Given the description of an element on the screen output the (x, y) to click on. 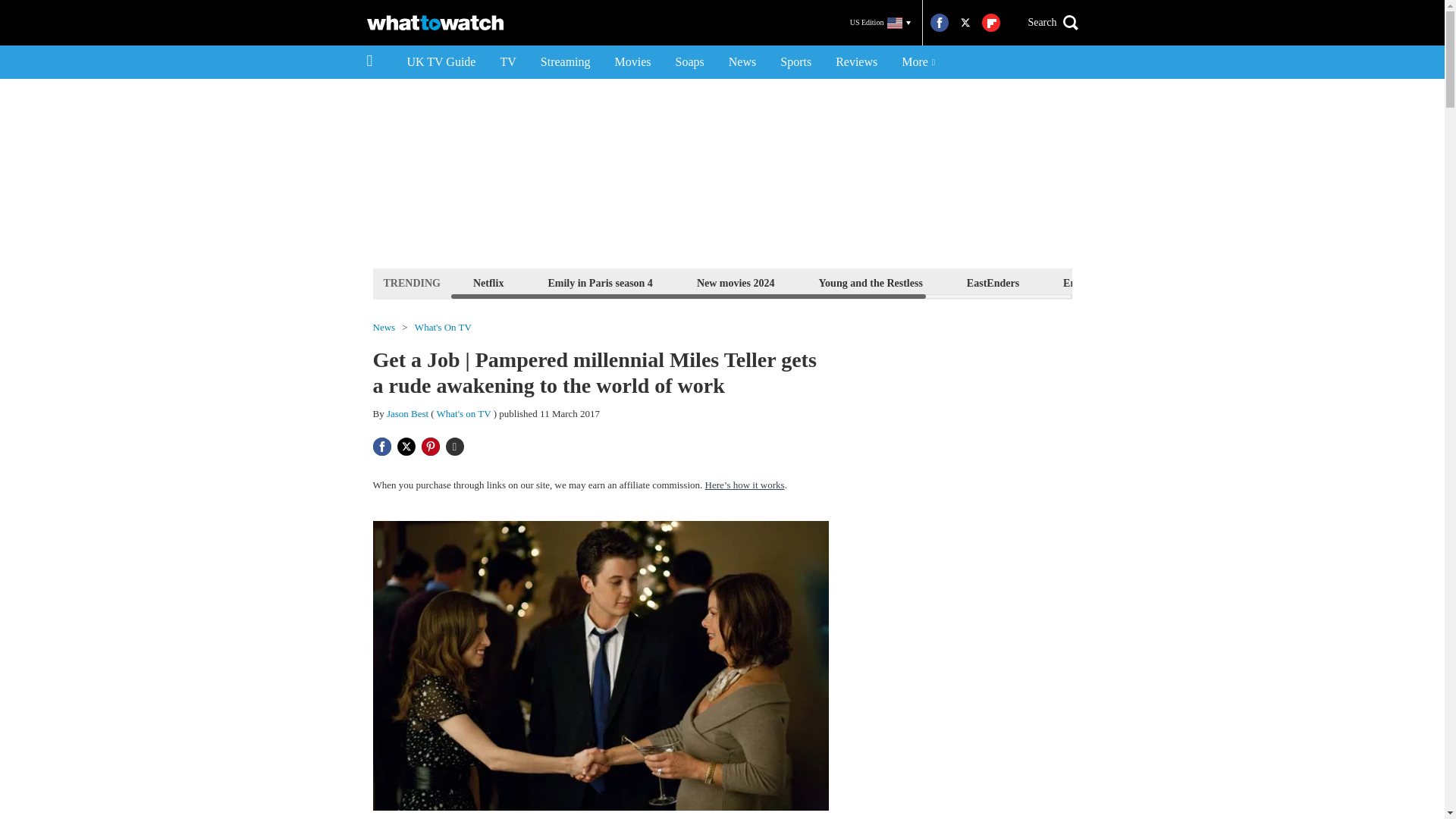
Emmerdale (1089, 282)
New movies 2024 (735, 282)
What's On TV (442, 327)
What's on TV (464, 413)
Reviews (856, 61)
News (742, 61)
Sports (796, 61)
Movies (632, 61)
Soaps (689, 61)
Young and the Restless (870, 282)
